Given the description of an element on the screen output the (x, y) to click on. 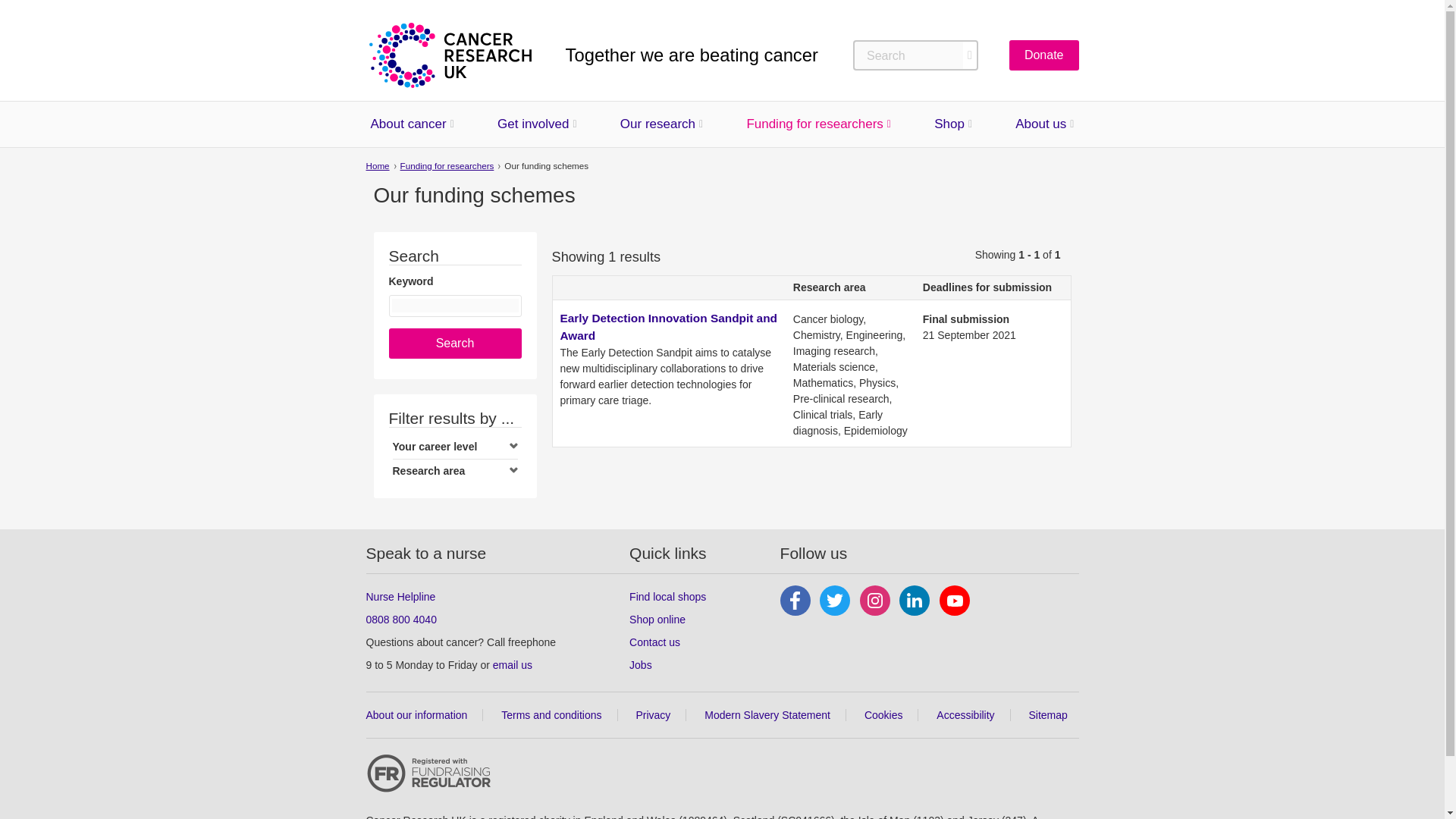
Search (454, 343)
Get involved (533, 124)
Cancer Research UK Homepage (449, 54)
Donate (1043, 55)
About cancer (407, 124)
